Given the description of an element on the screen output the (x, y) to click on. 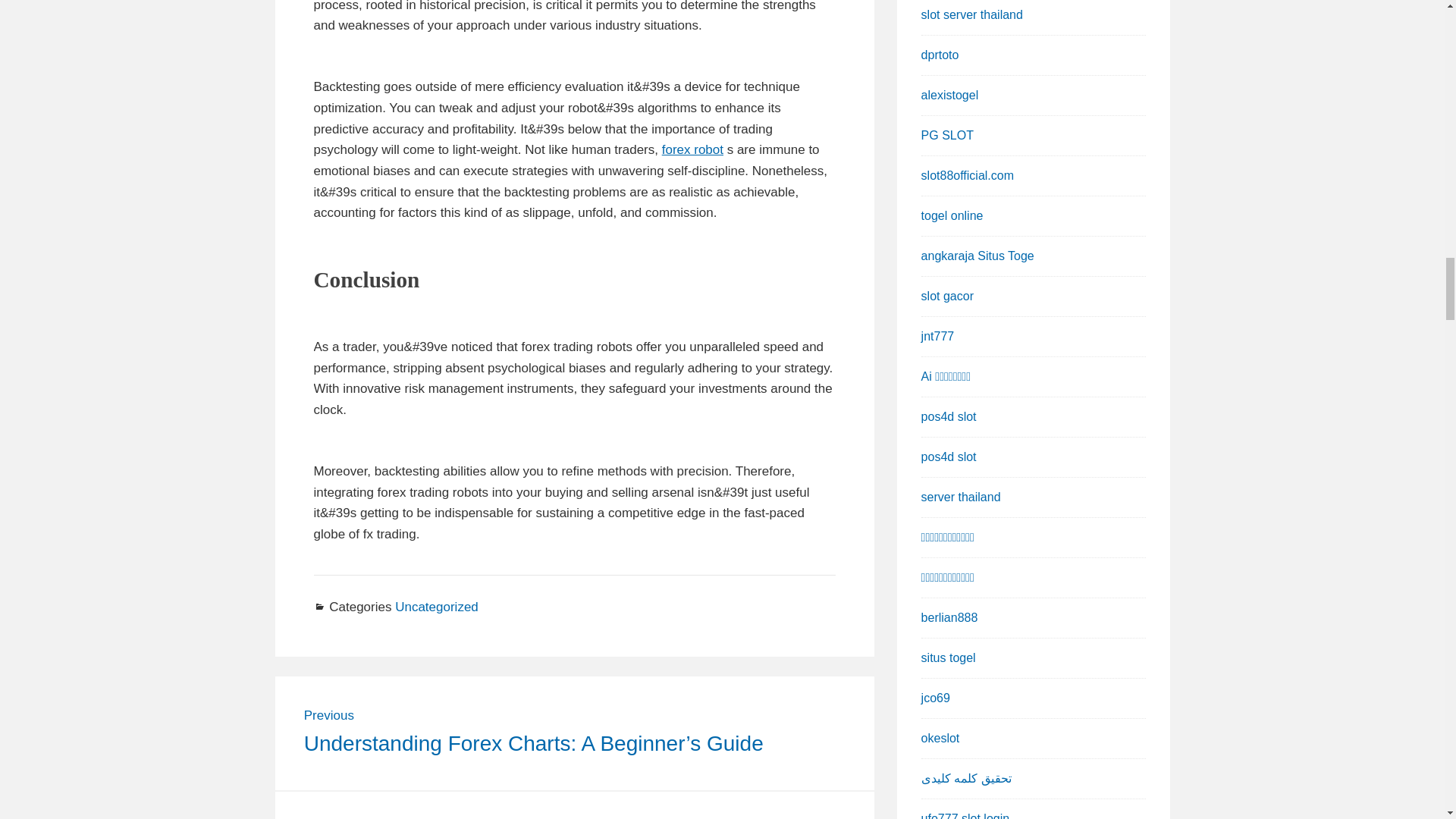
Uncategorized (436, 606)
forex robot (692, 149)
